Given the description of an element on the screen output the (x, y) to click on. 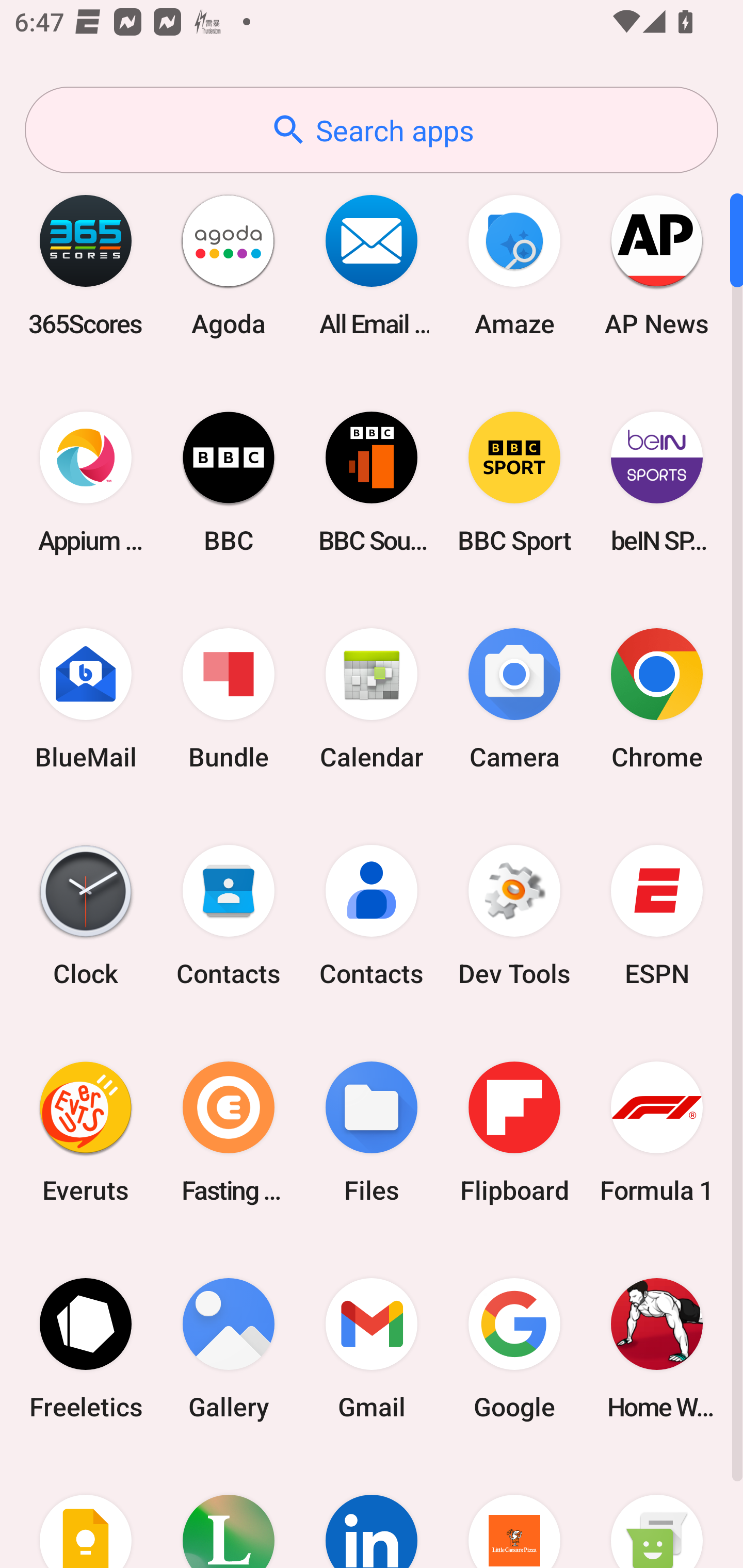
  Search apps (371, 130)
365Scores (85, 264)
Agoda (228, 264)
All Email Connect (371, 264)
Amaze (514, 264)
AP News (656, 264)
Appium Settings (85, 482)
BBC (228, 482)
BBC Sounds (371, 482)
BBC Sport (514, 482)
beIN SPORTS (656, 482)
BlueMail (85, 699)
Bundle (228, 699)
Calendar (371, 699)
Camera (514, 699)
Chrome (656, 699)
Clock (85, 915)
Contacts (228, 915)
Contacts (371, 915)
Dev Tools (514, 915)
ESPN (656, 915)
Everuts (85, 1131)
Fasting Coach (228, 1131)
Files (371, 1131)
Flipboard (514, 1131)
Formula 1 (656, 1131)
Freeletics (85, 1348)
Gallery (228, 1348)
Gmail (371, 1348)
Google (514, 1348)
Home Workout (656, 1348)
Keep Notes (85, 1512)
Lifesum (228, 1512)
LinkedIn (371, 1512)
Little Caesars Pizza (514, 1512)
Messaging (656, 1512)
